Given the description of an element on the screen output the (x, y) to click on. 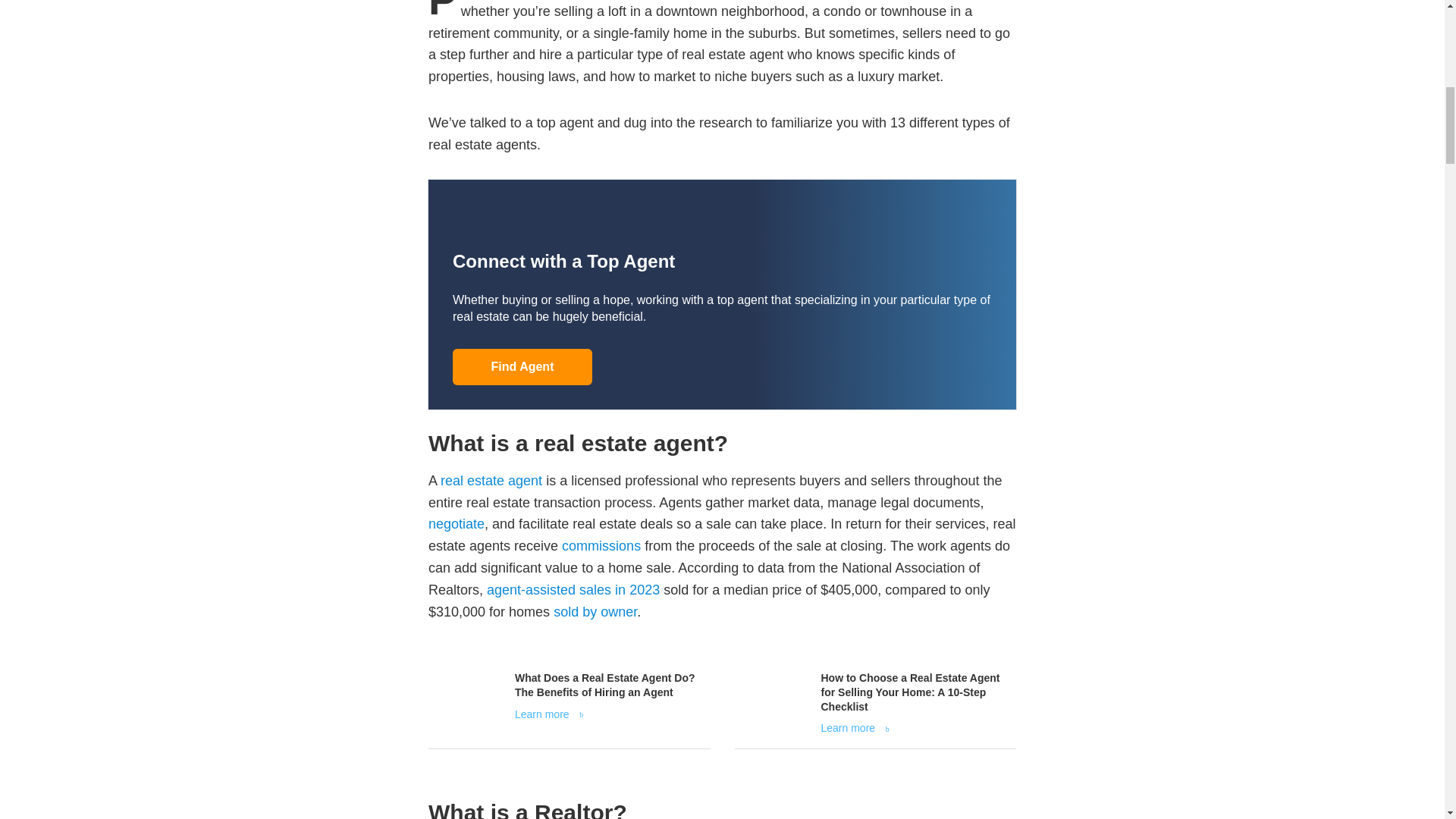
sold by owner (595, 611)
negotiate (456, 523)
agent-assisted sales in 2023 (572, 589)
real estate agent (491, 480)
commissions (601, 545)
Find Agent (522, 366)
